Given the description of an element on the screen output the (x, y) to click on. 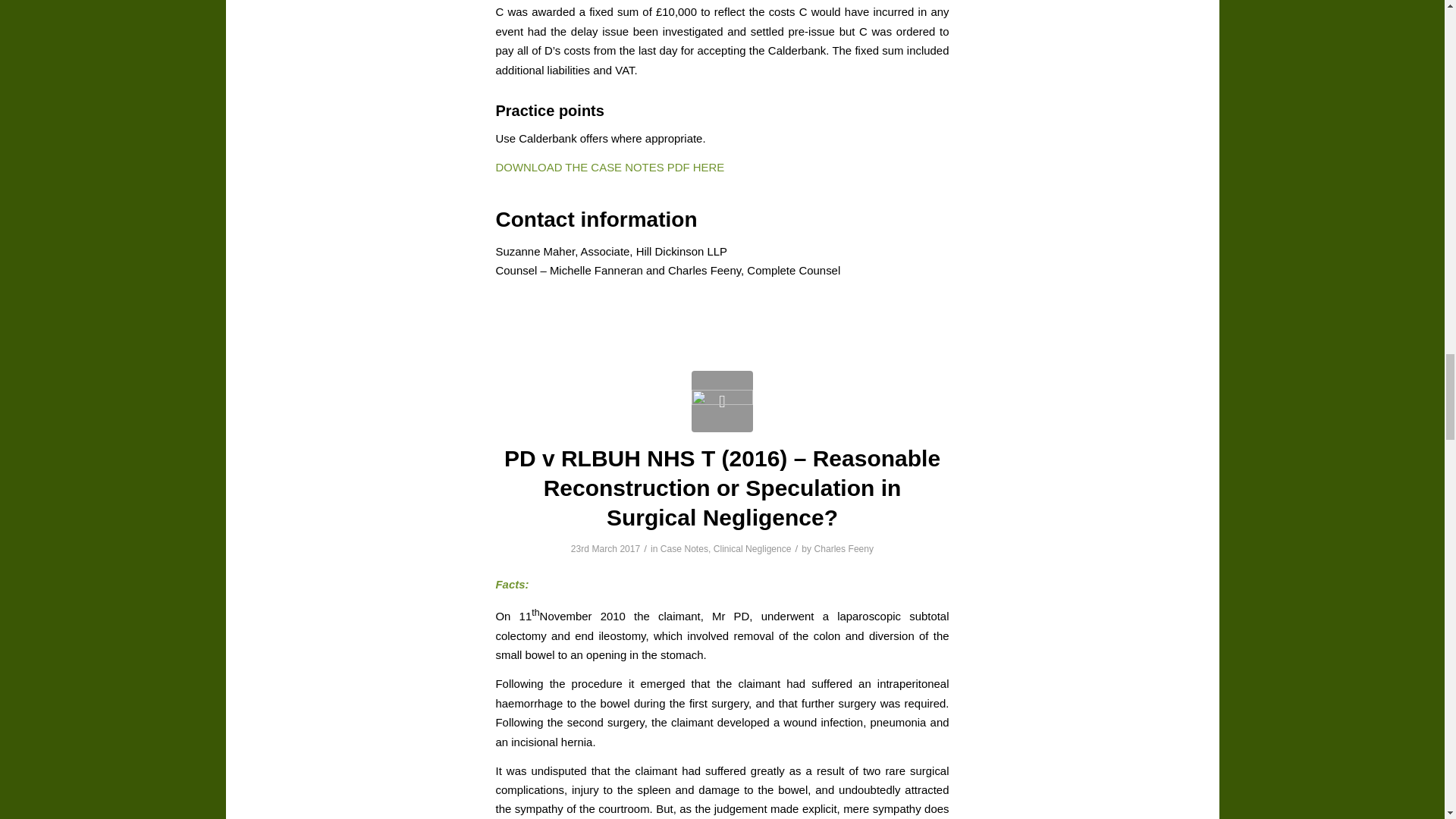
Clinical Negligence (752, 548)
DOWNLOAD THE CASE NOTES PDF HERE (610, 166)
Charles Feeny (843, 548)
pexels-photo-236066 (721, 401)
Posts by Charles Feeny (843, 548)
Case Notes (684, 548)
